Given the description of an element on the screen output the (x, y) to click on. 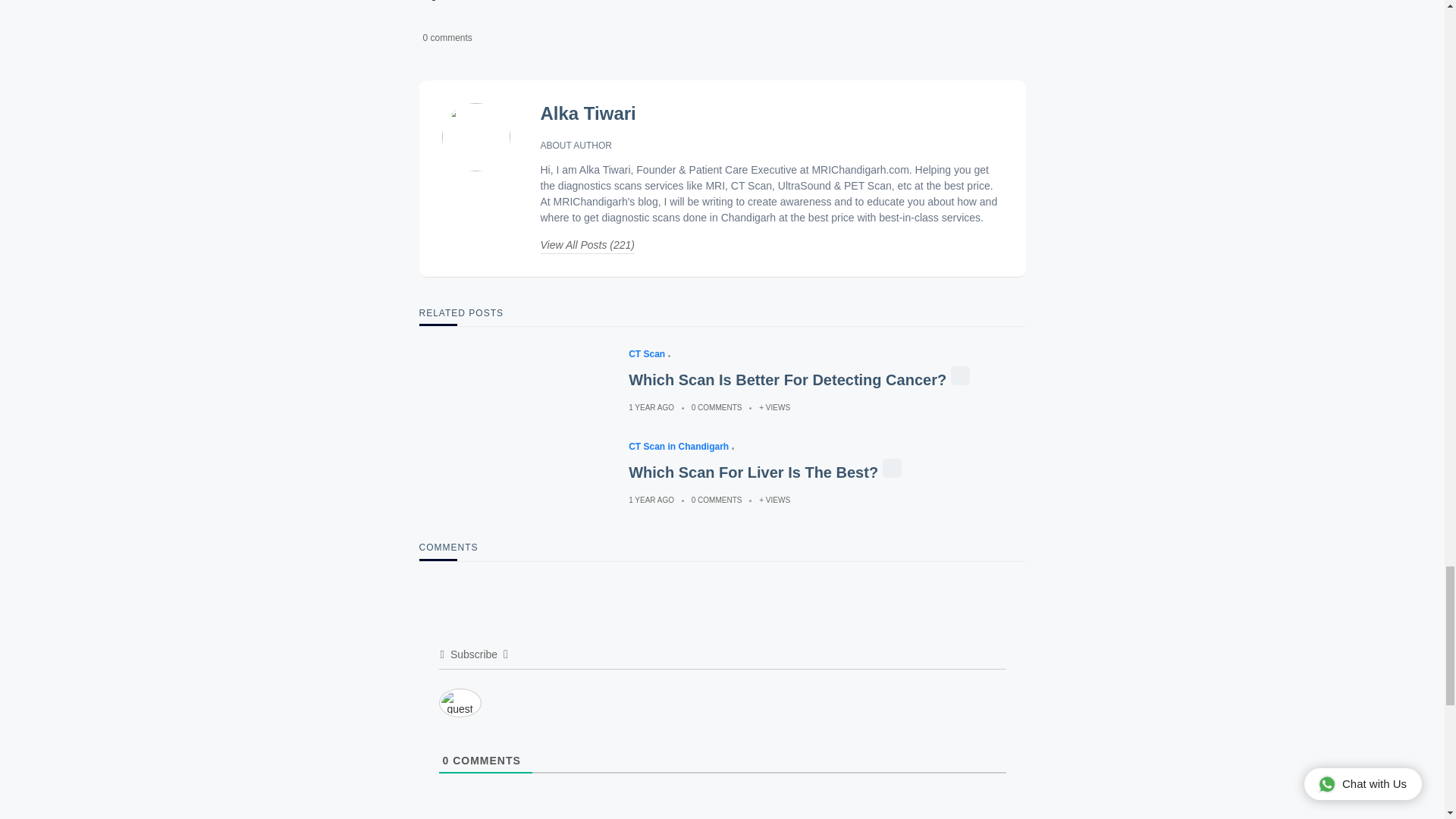
CT Scan (653, 353)
Posted by Alka Tiwari (587, 114)
Alka Tiwari (587, 114)
Which Scan For Liver Is The Best? (752, 472)
Which Scan Is Better For Detecting Cancer? (787, 380)
CT Scan in Chandigarh (684, 446)
